Given the description of an element on the screen output the (x, y) to click on. 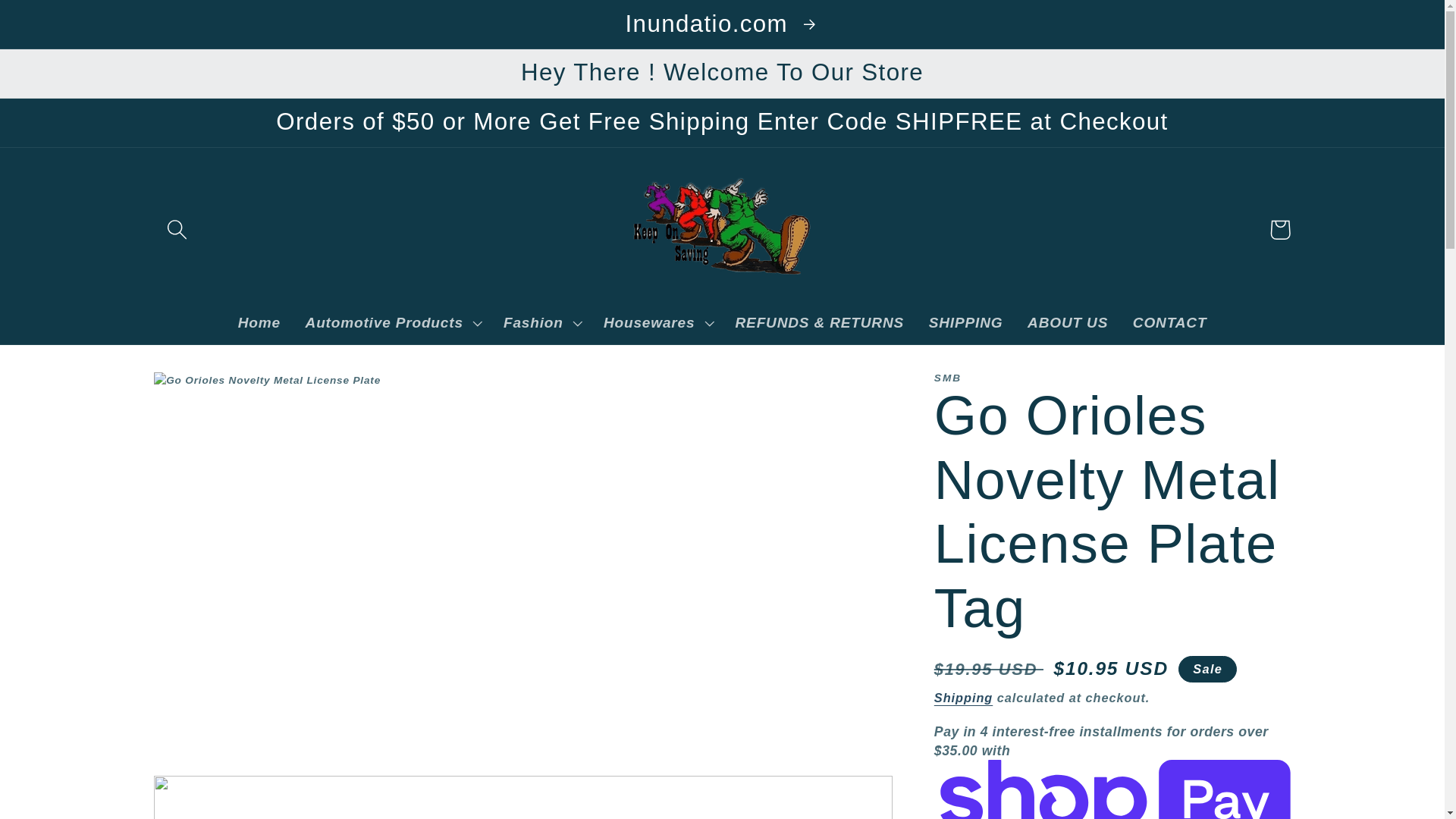
Home (258, 322)
Skip to content (61, 23)
